Given the description of an element on the screen output the (x, y) to click on. 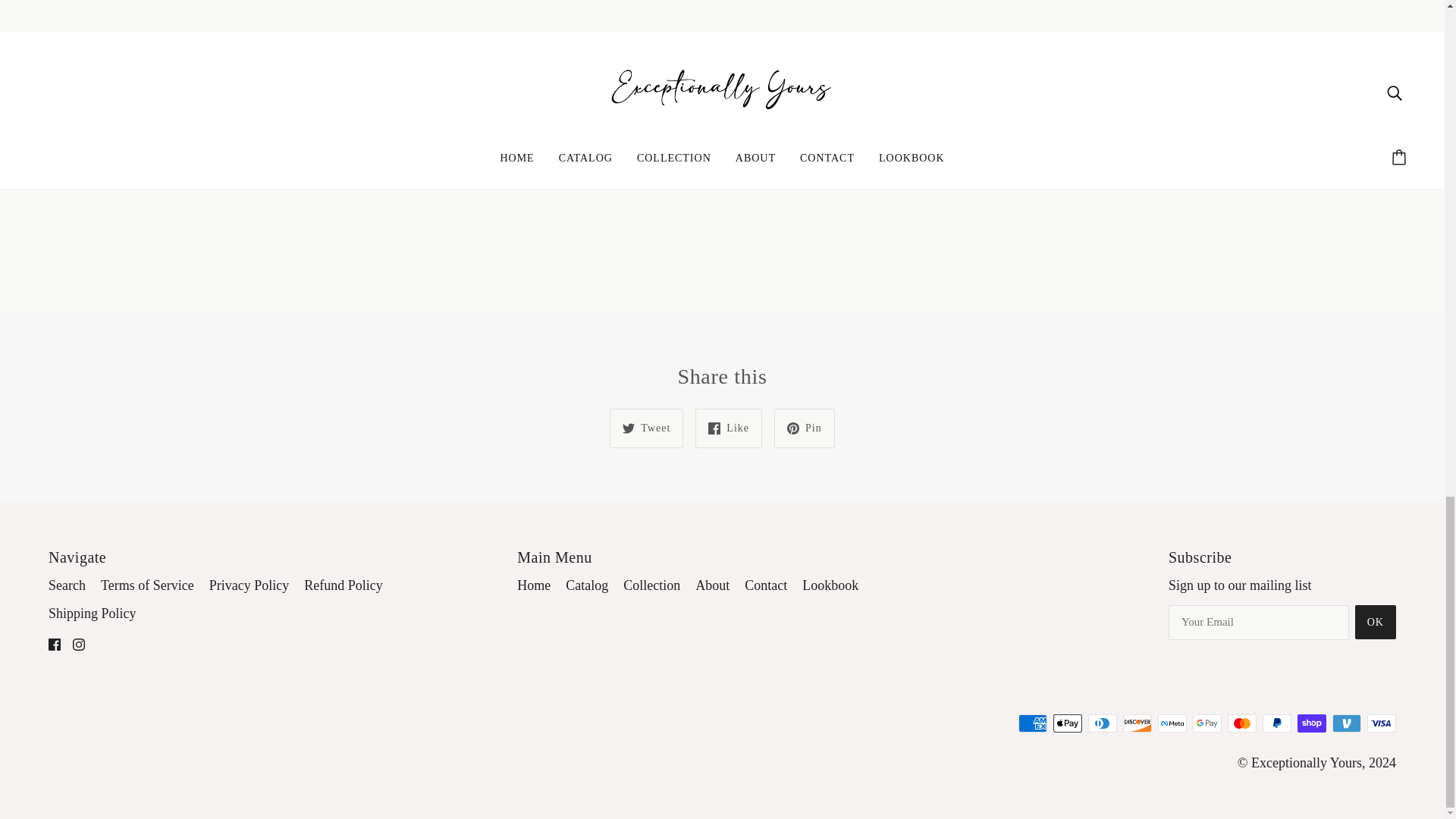
Diners Club (1101, 723)
About (712, 585)
Collection (651, 585)
Venmo (1346, 723)
PayPal (1276, 723)
Home (533, 585)
Lookbook (830, 585)
Shop Pay (1311, 723)
Contact (765, 585)
Shipping Policy (92, 613)
